Given the description of an element on the screen output the (x, y) to click on. 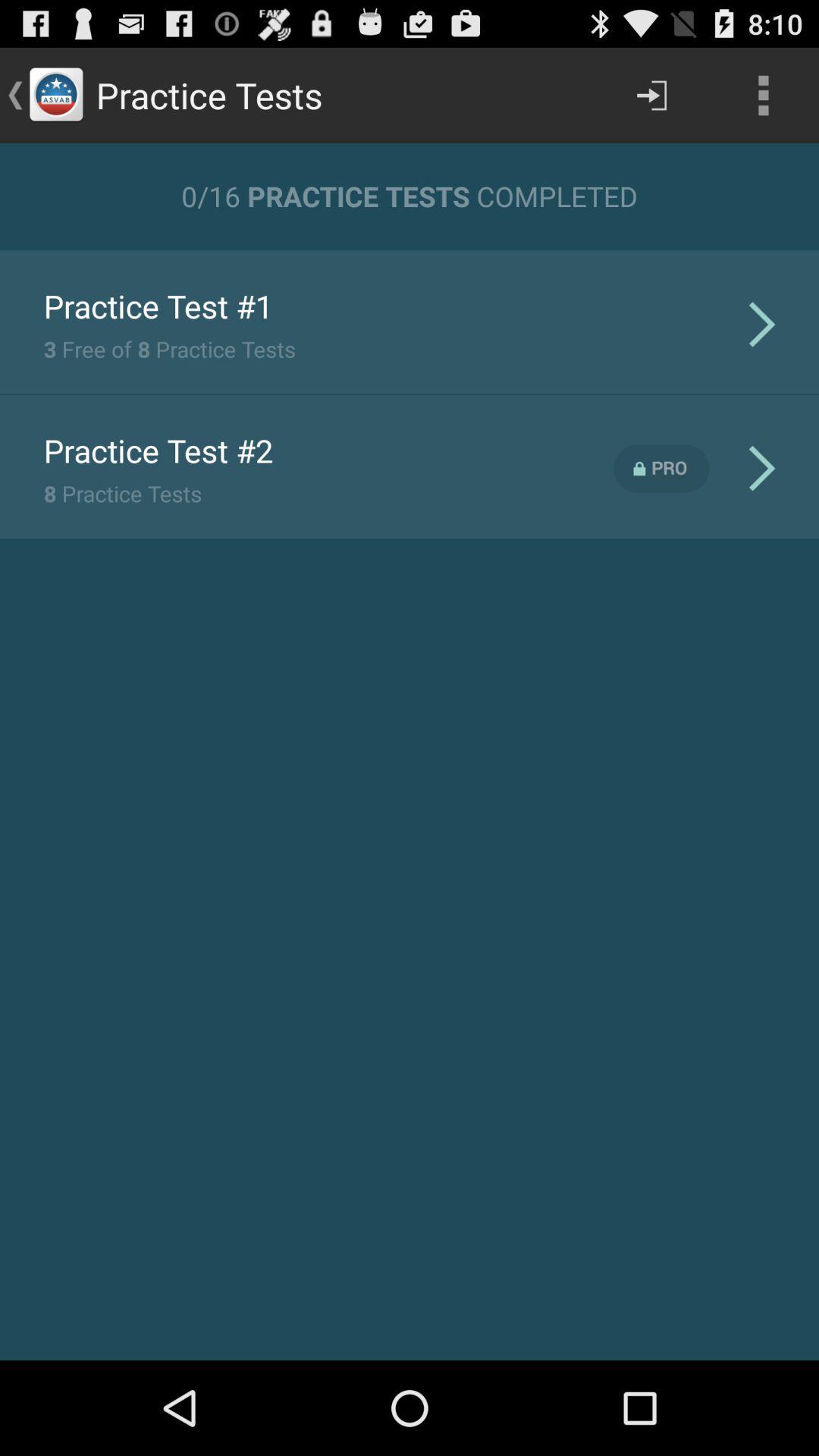
click on forward button (651, 95)
click on the first arrow icon (761, 324)
tap the icon just left to practice tests (55, 95)
select the second arrow icon which is next to pro (761, 467)
